Given the description of an element on the screen output the (x, y) to click on. 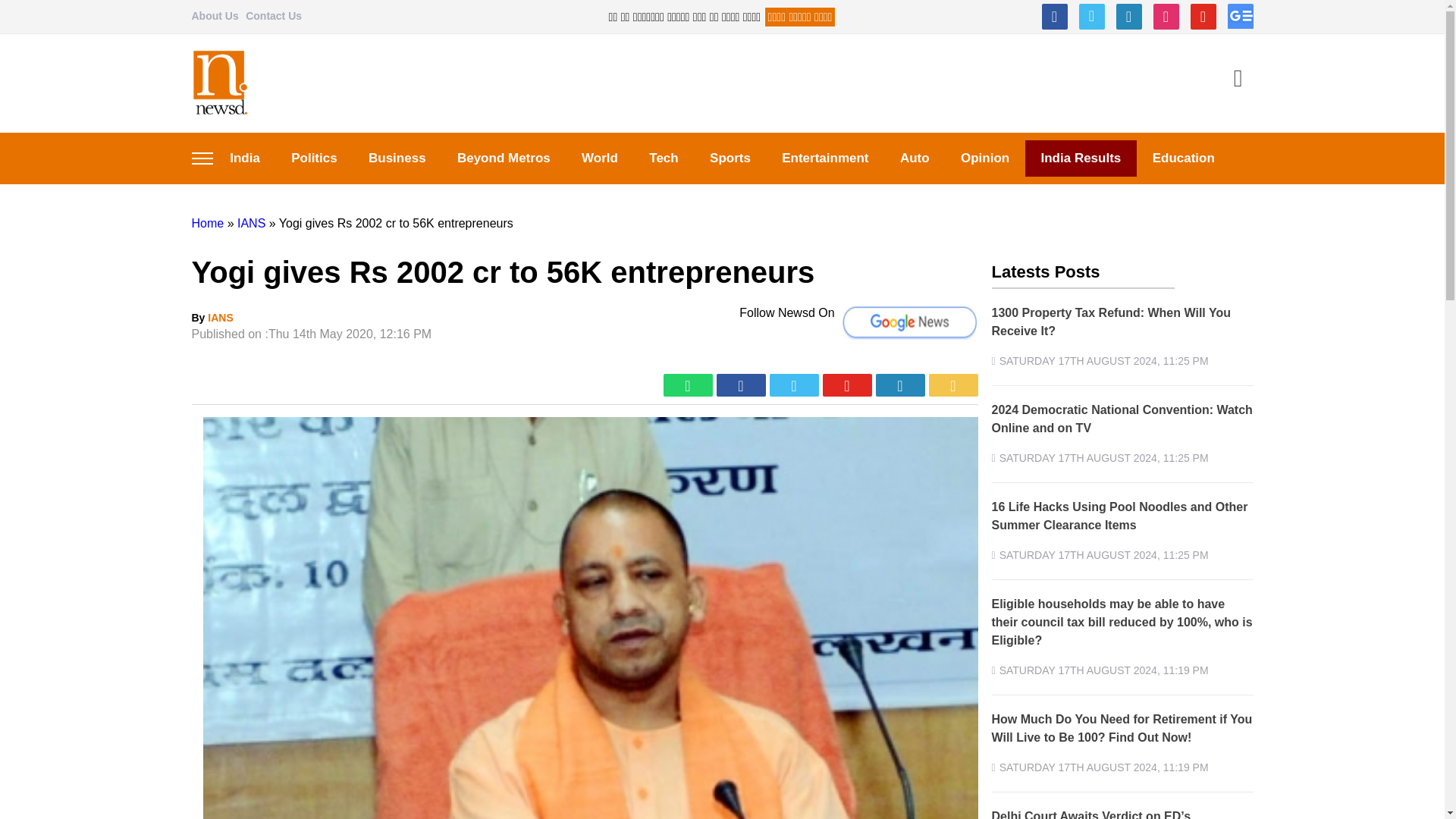
Twitter (1090, 16)
Facebook (1054, 16)
India (244, 158)
Youtube (1203, 16)
India Results (1081, 158)
Google Follow (1239, 16)
Entertainment (826, 158)
Auto (913, 158)
Auto (913, 158)
IANS (250, 223)
